Given the description of an element on the screen output the (x, y) to click on. 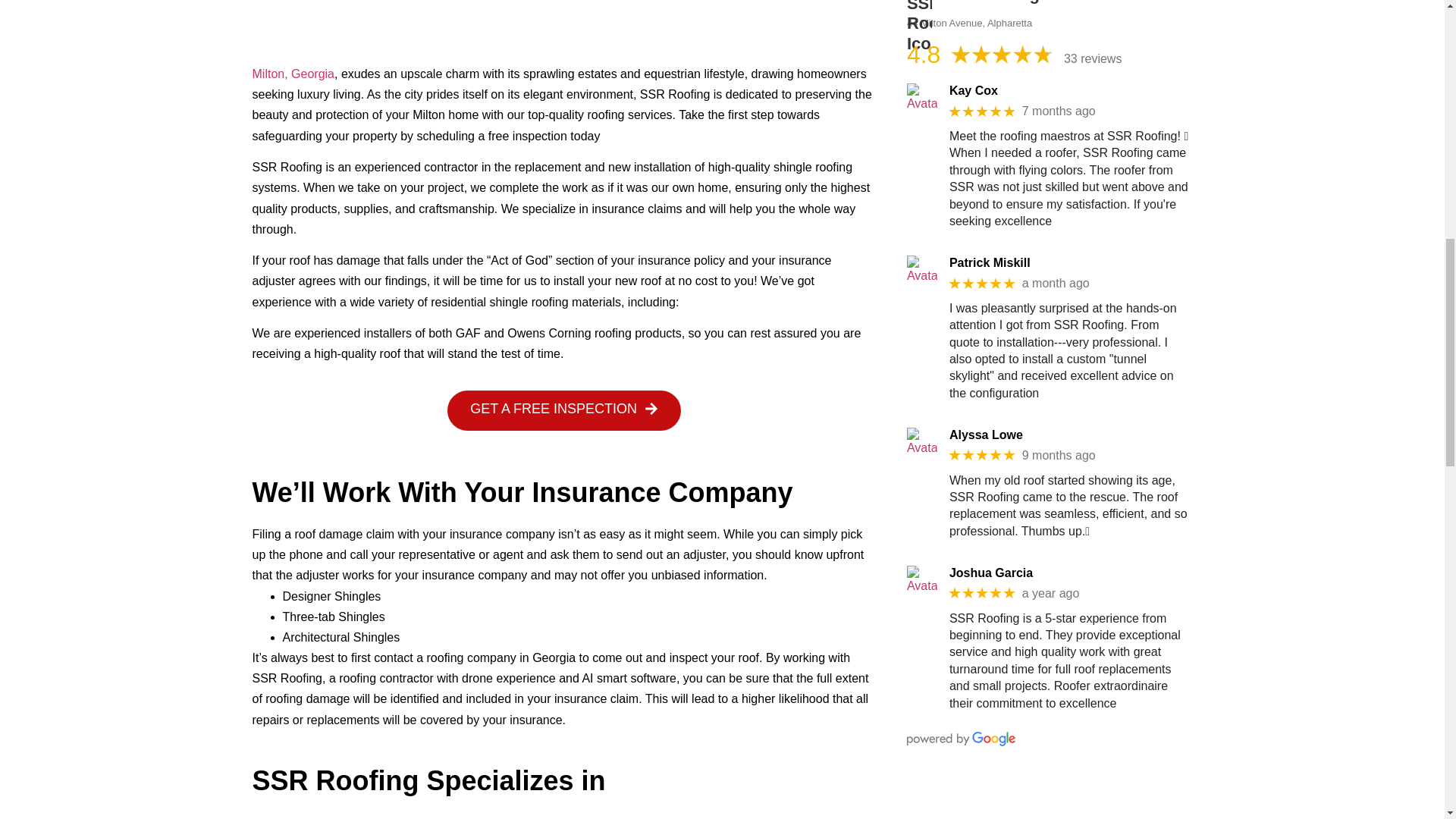
Powered by Google (960, 739)
